Given the description of an element on the screen output the (x, y) to click on. 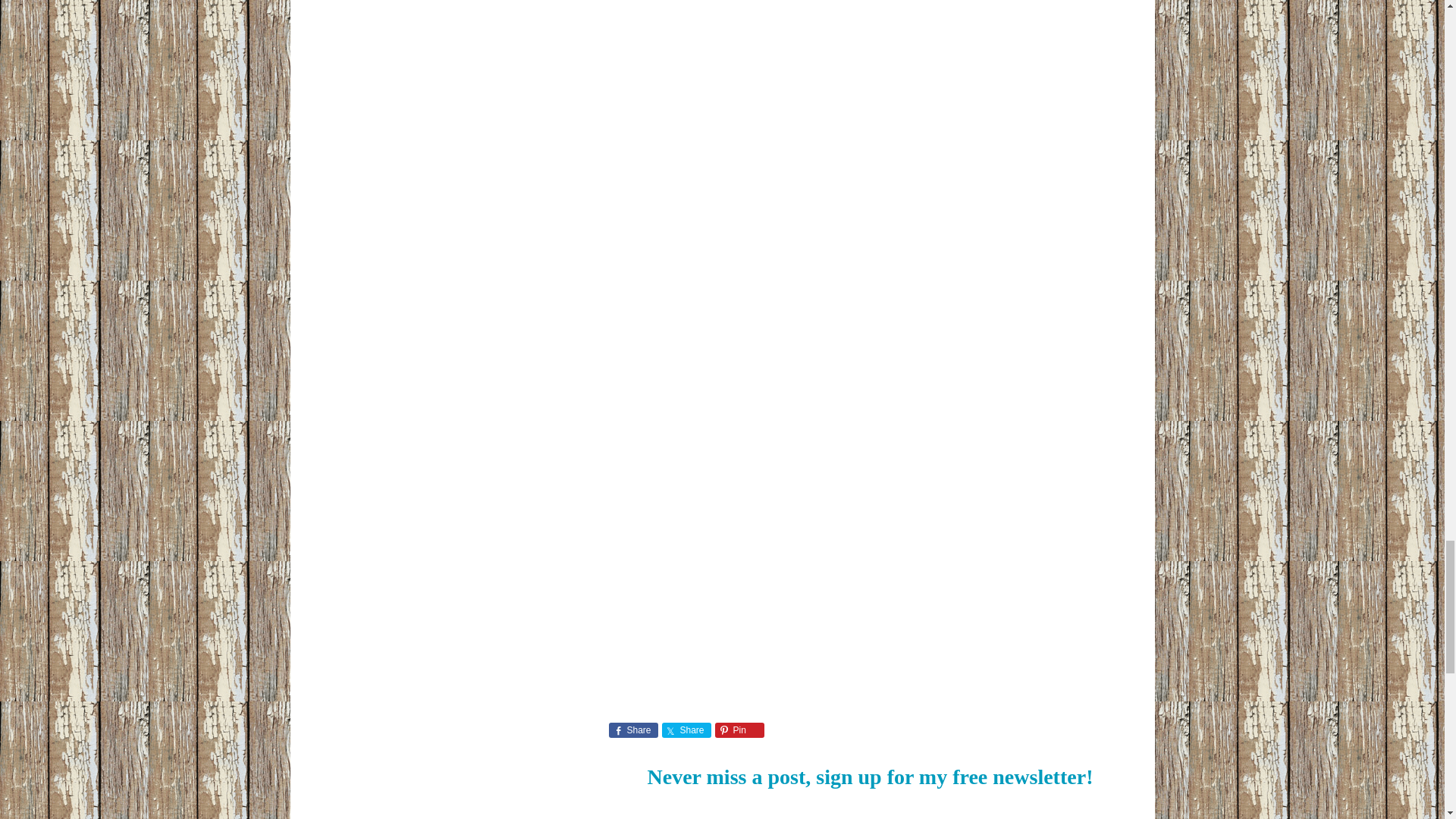
Share (633, 729)
